Given the description of an element on the screen output the (x, y) to click on. 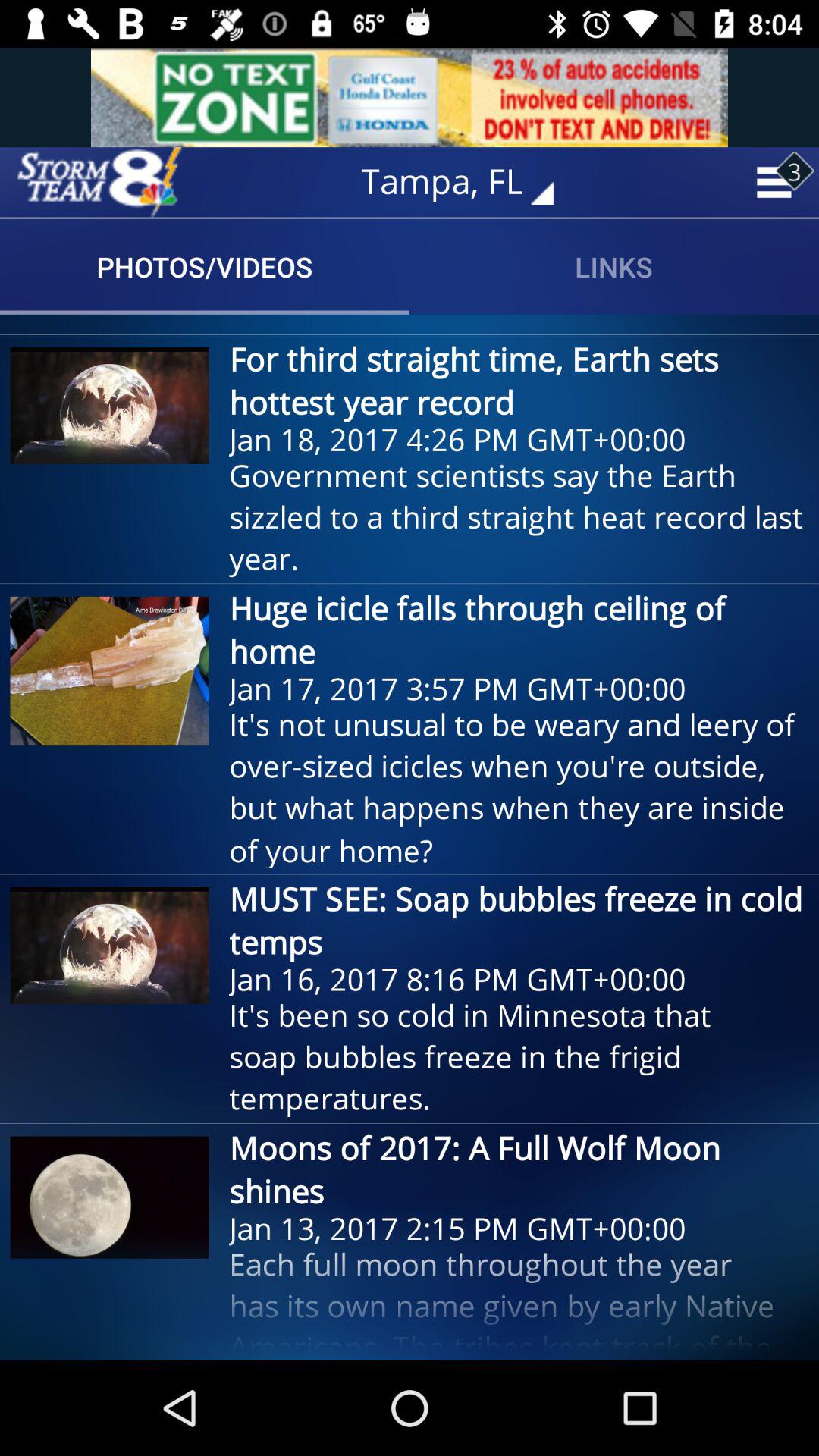
go to advertisements website (409, 97)
